Given the description of an element on the screen output the (x, y) to click on. 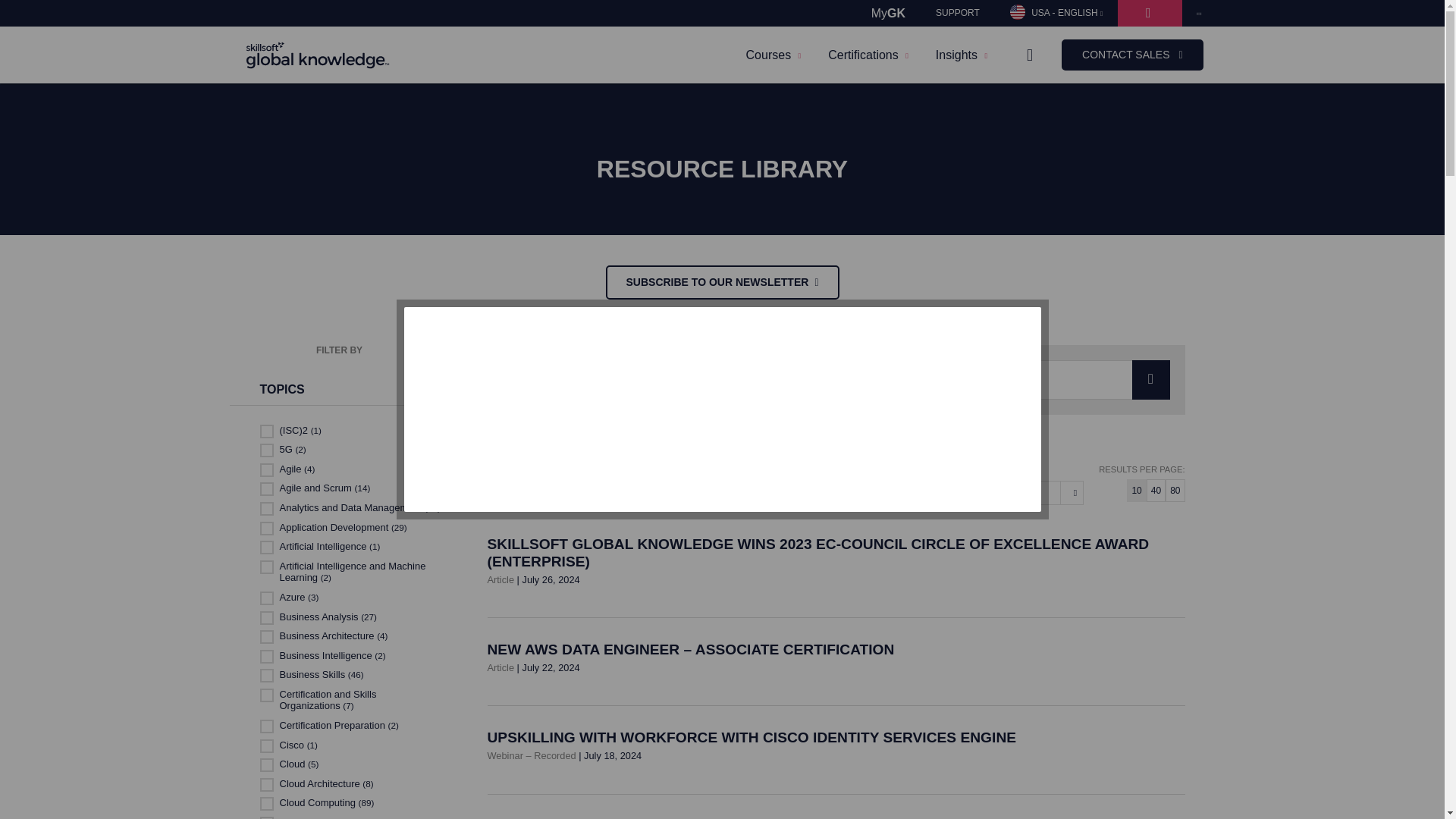
TrustArc Cookie Consent Manager (722, 409)
SUPPORT (957, 13)
MyGK (888, 13)
USA - ENGLISH (1056, 13)
Courses (773, 54)
